Given the description of an element on the screen output the (x, y) to click on. 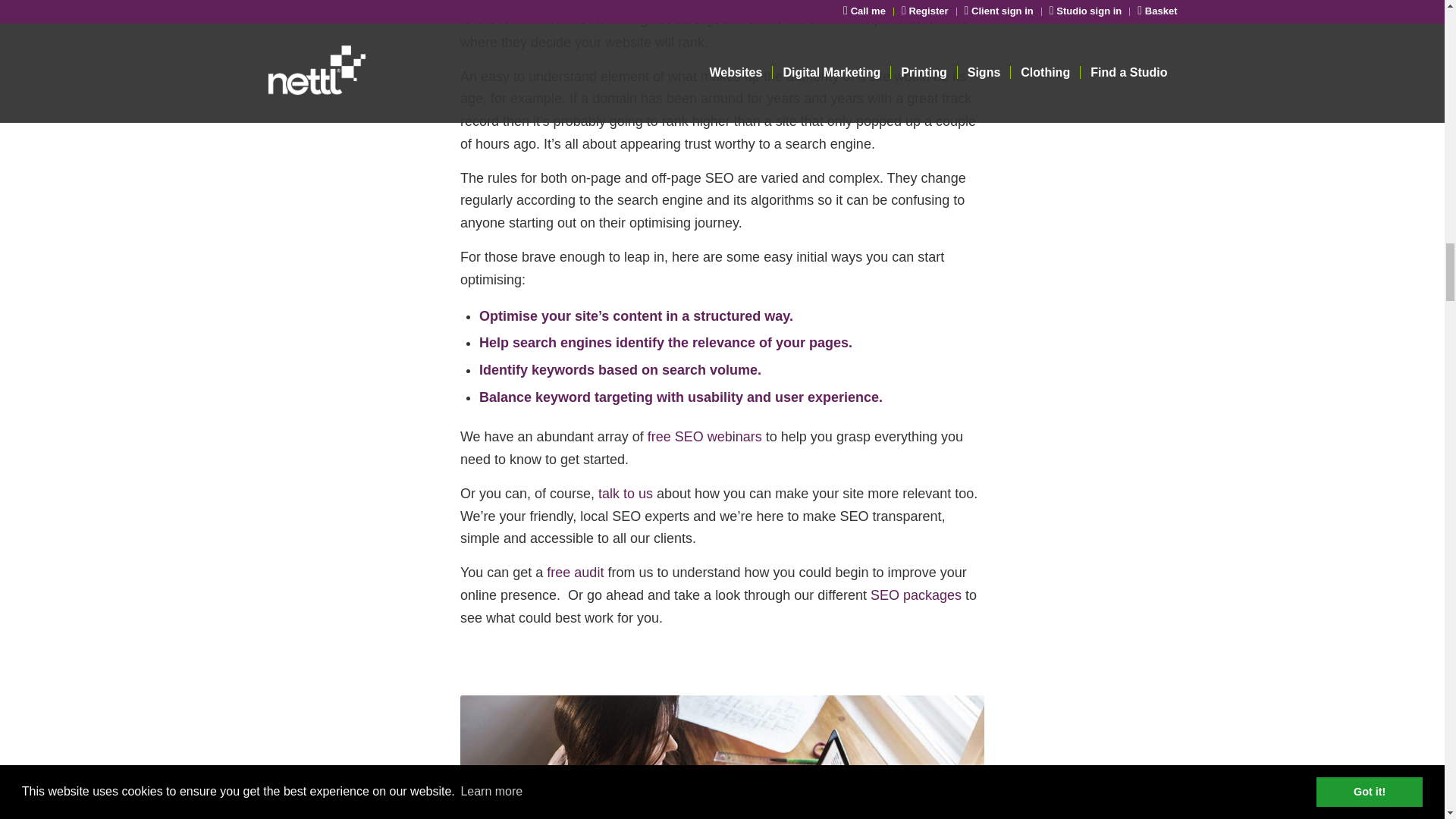
content marketing blog (722, 756)
